Given the description of an element on the screen output the (x, y) to click on. 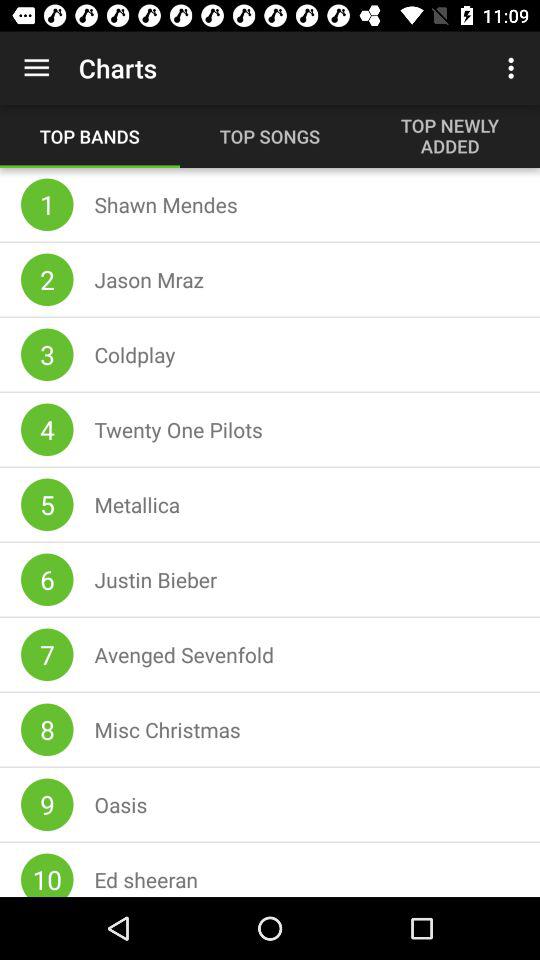
turn off the icon below justin bieber item (184, 654)
